Given the description of an element on the screen output the (x, y) to click on. 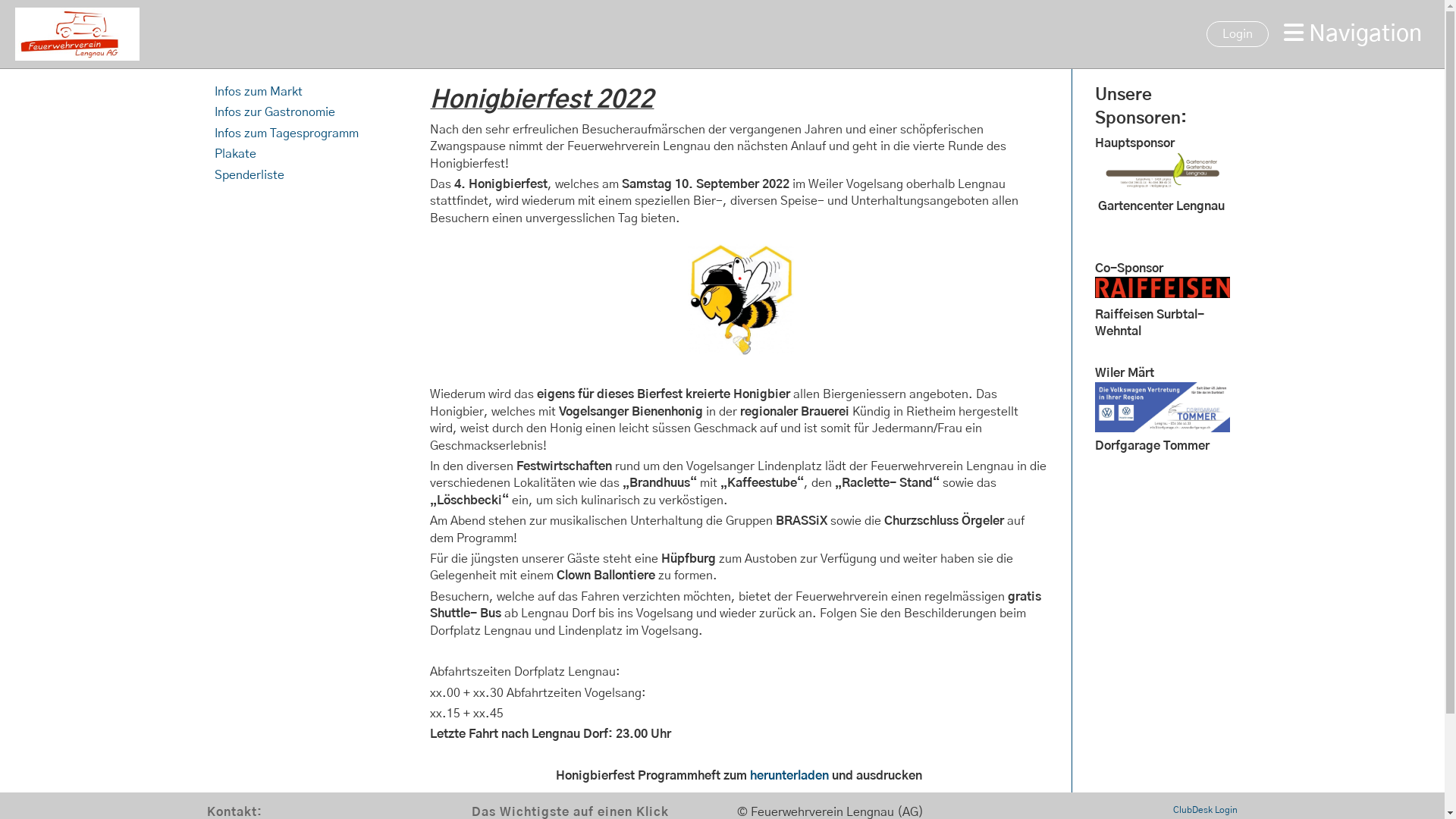
  Element type: text (257, 153)
Raiffeisen Element type: hover (1162, 294)
Infos zur Gastronomie Element type: text (273, 112)
Plakate Element type: text (234, 153)
Login Element type: text (1237, 34)
herunterladen Element type: text (788, 775)
Infos zum Tagesprogramm  Element type: text (286, 133)
Dorfgarage Tommer Element type: hover (1162, 428)
Gartencenter Lengnau Element type: hover (1162, 184)
Infos zum Markt Element type: text (257, 91)
ClubDesk Login Element type: text (1205, 809)
Navigation Element type: text (1352, 34)
Spenderliste Element type: text (248, 175)
